Given the description of an element on the screen output the (x, y) to click on. 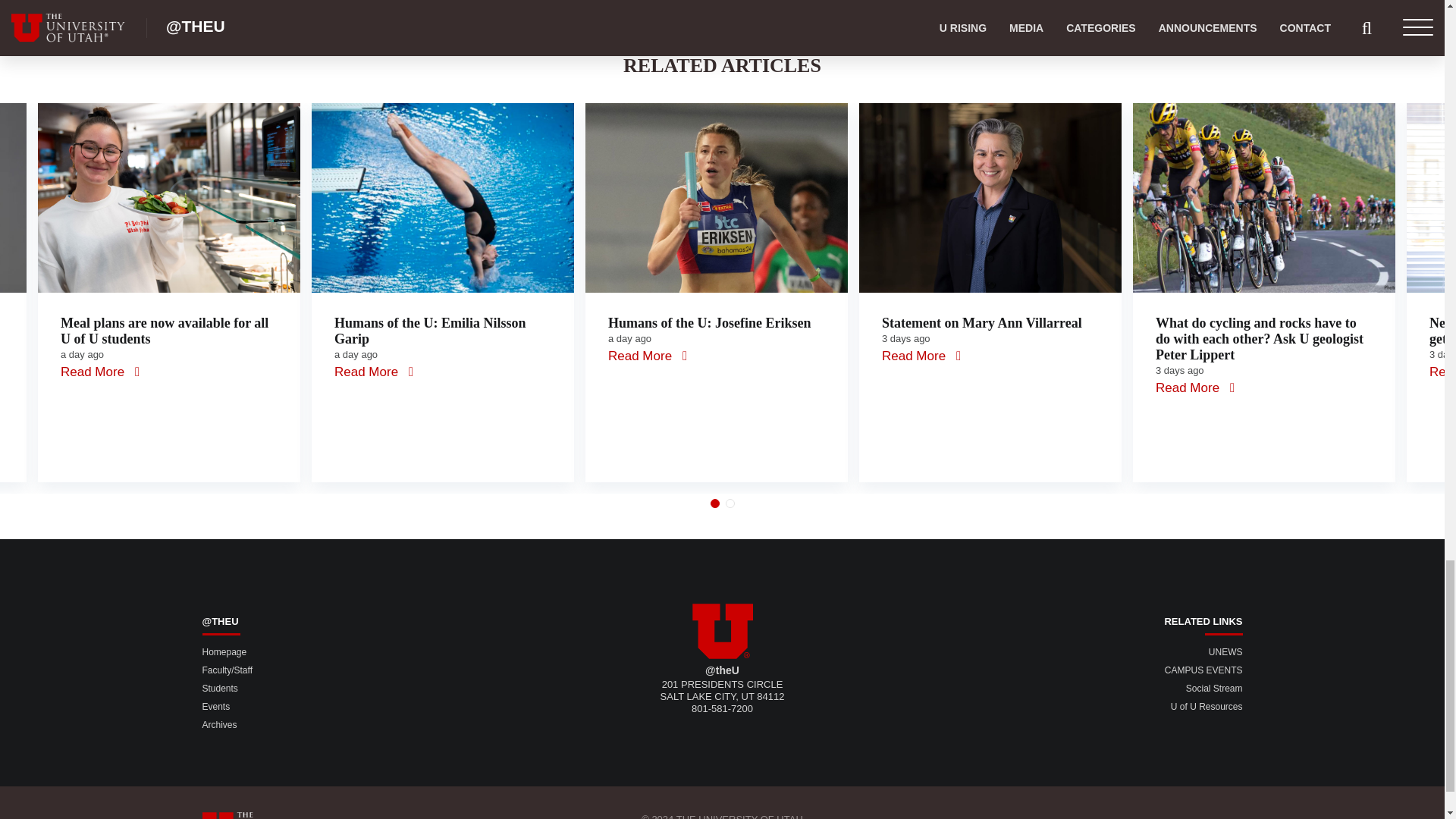
July 17, 2024 (355, 354)
July 17, 2024 (82, 354)
July 17, 2024 (629, 337)
July 15, 2024 (906, 337)
July 15, 2024 (1180, 369)
